Given the description of an element on the screen output the (x, y) to click on. 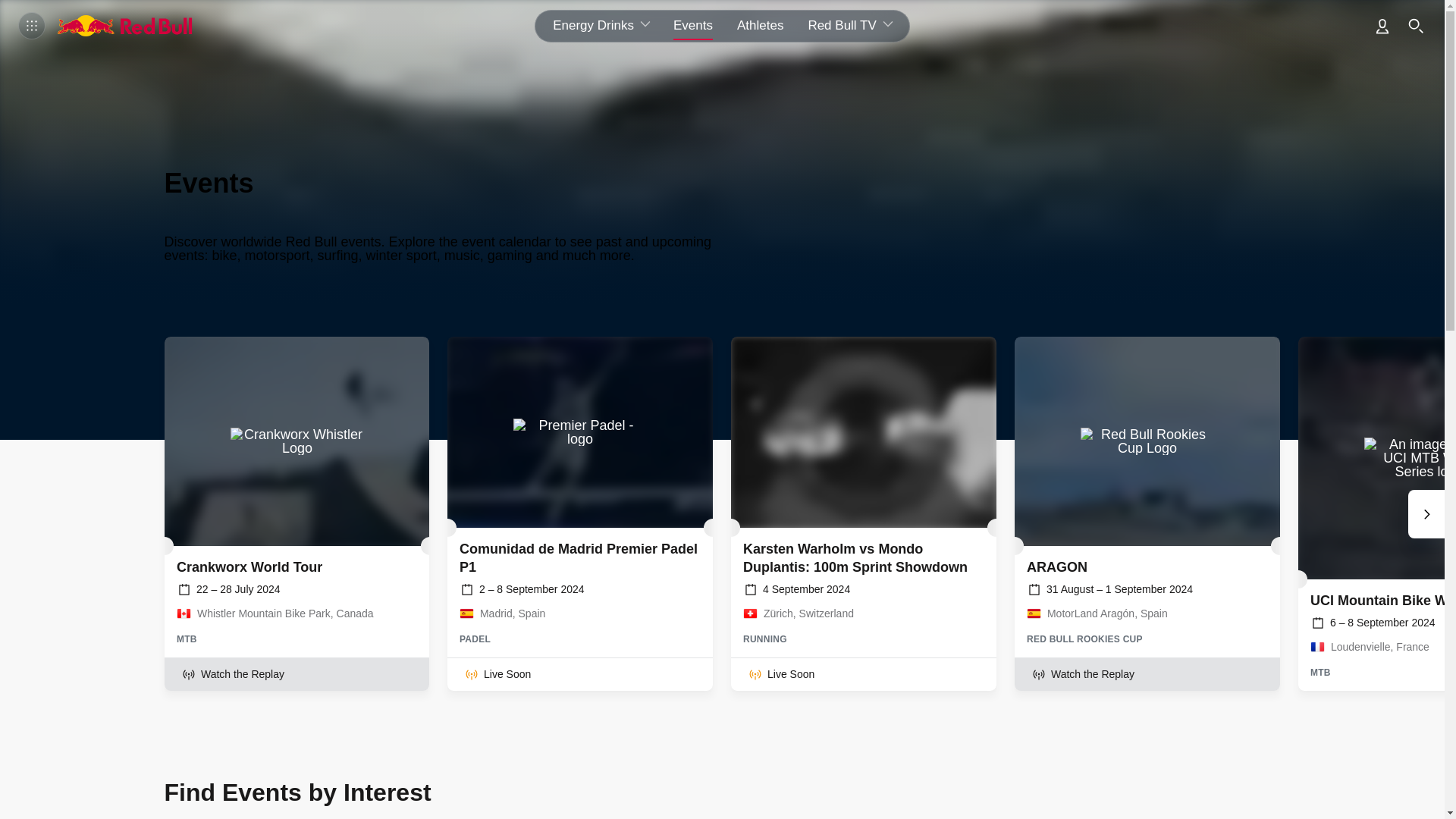
Events (693, 25)
Spain (467, 613)
Energy Drinks (597, 25)
Dawid Godziek (296, 441)
Karsten Warholm vs Mondo Duplantis: 100m Sprint Showdown (863, 432)
Red Bull Rookies Cup 2021 Aragon - Event header 2024 (1147, 441)
Spain (1033, 613)
Canada (183, 613)
Red Bull TV (851, 25)
Premier Padel's Madrid stop is real homecoming (579, 432)
